Given the description of an element on the screen output the (x, y) to click on. 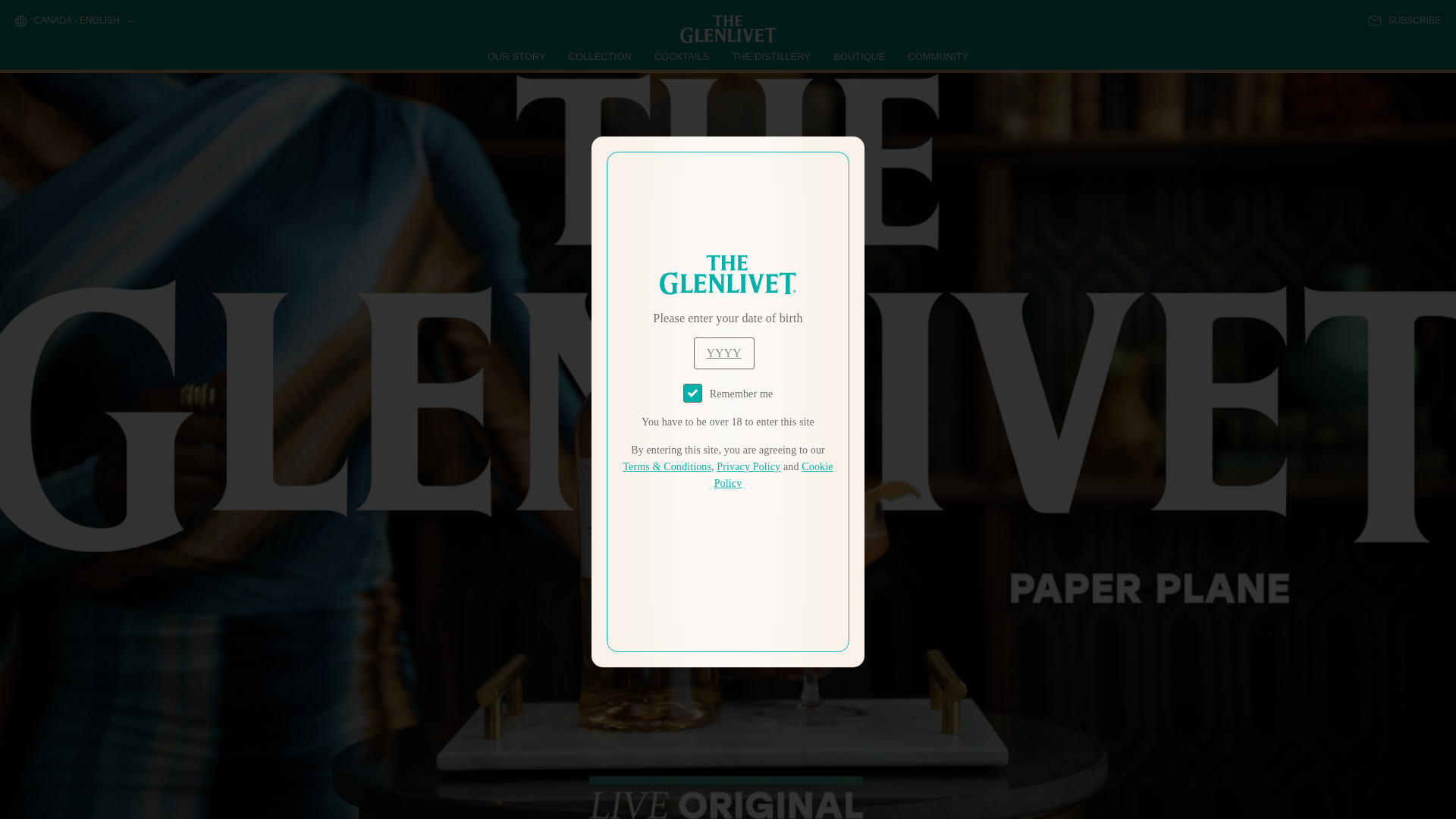
COMMUNITY (937, 56)
year (723, 353)
SUBSCRIBE (1404, 20)
OUR STORY (516, 56)
Privacy Policy (748, 466)
Cookie Policy (773, 474)
COCKTAILS (681, 56)
THE DISTILLERY (771, 56)
COLLECTION (600, 56)
BOUTIQUE (858, 56)
